Given the description of an element on the screen output the (x, y) to click on. 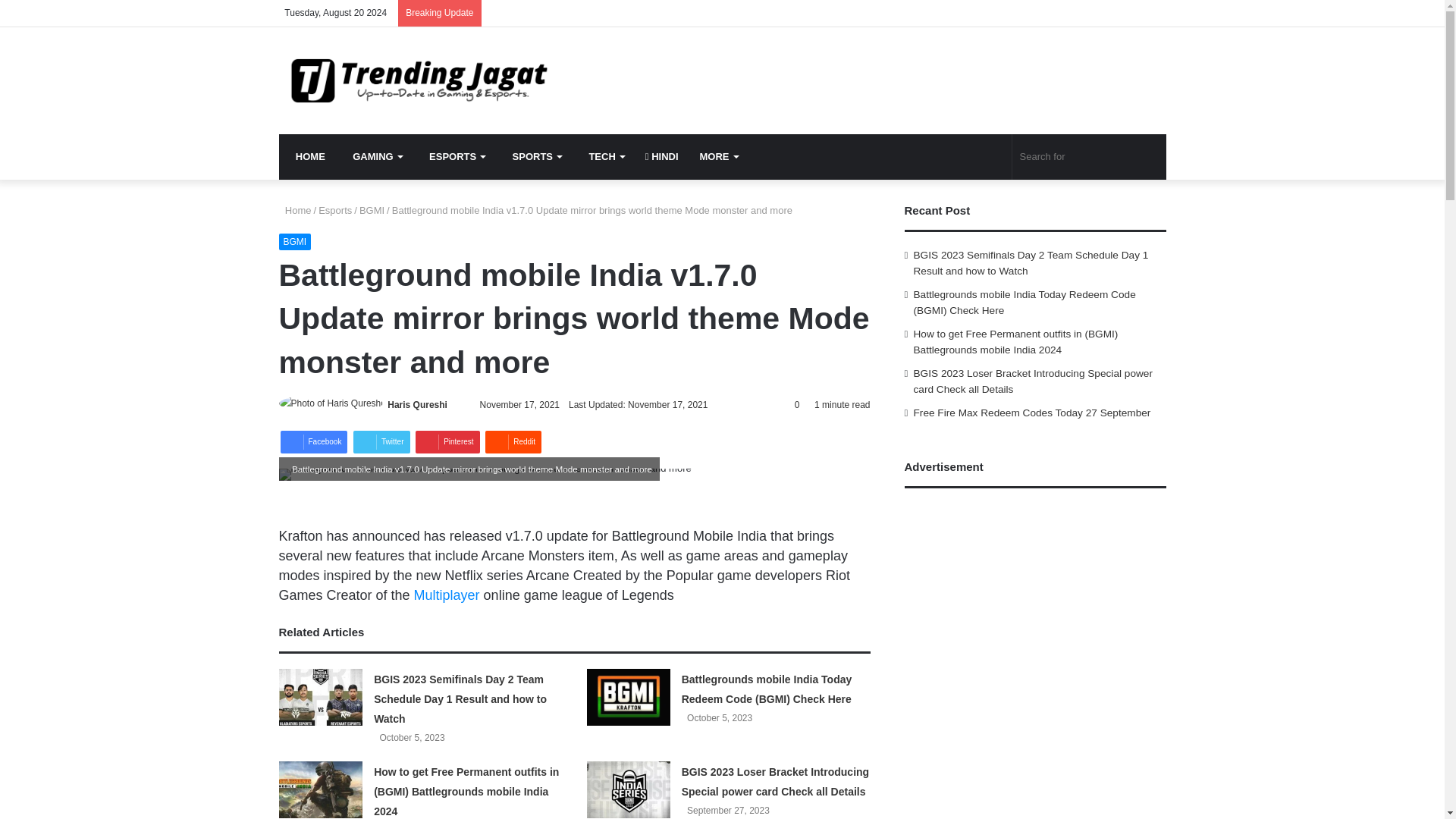
Facebook (314, 441)
SPORTS (533, 156)
HOME (307, 156)
Search for (1088, 156)
GAMING (374, 156)
Twitter (381, 441)
Reddit (512, 441)
TECH (603, 156)
Haris Qureshi (416, 404)
Pinterest (446, 441)
